Given the description of an element on the screen output the (x, y) to click on. 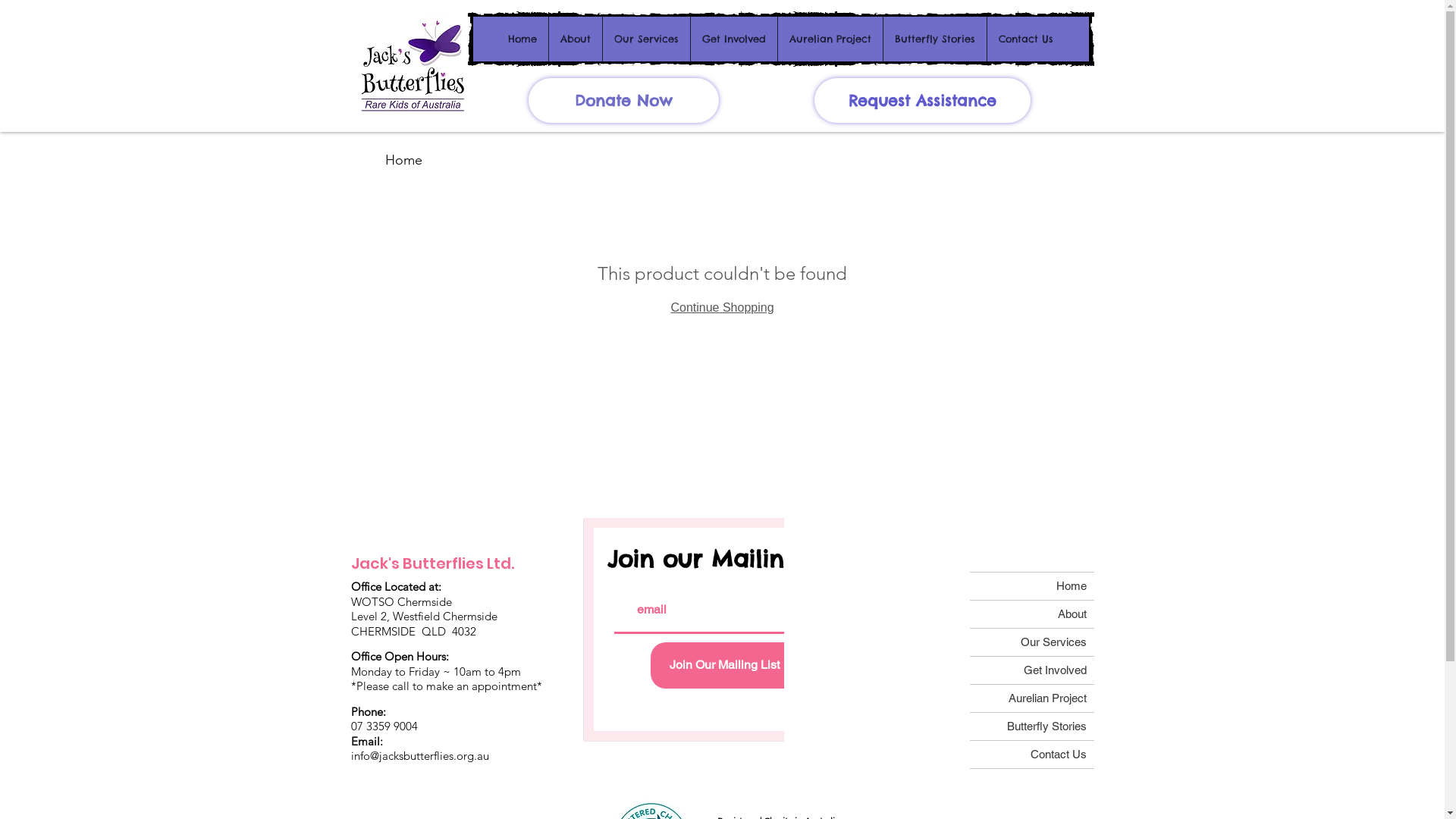
info@jacksbutterflies.org.au Element type: text (419, 755)
About Element type: text (1031, 613)
Home Element type: text (522, 38)
Join Our Mailing List Element type: text (724, 665)
About Element type: text (575, 38)
Home Element type: text (403, 159)
Home Element type: text (1031, 585)
Get Involved Element type: text (1031, 670)
Aurelian Project Element type: text (829, 38)
Butterfly Stories Element type: text (1031, 726)
Donate Now Element type: text (622, 100)
Request Assistance Element type: text (922, 100)
Our Services Element type: text (1031, 641)
Continue Shopping Element type: text (721, 307)
Get Involved Element type: text (733, 38)
Our Services Element type: text (646, 38)
Contact Us Element type: text (1025, 38)
Aurelian Project Element type: text (1031, 698)
Contact Us Element type: text (1031, 754)
Butterfly Stories Element type: text (934, 38)
